Given the description of an element on the screen output the (x, y) to click on. 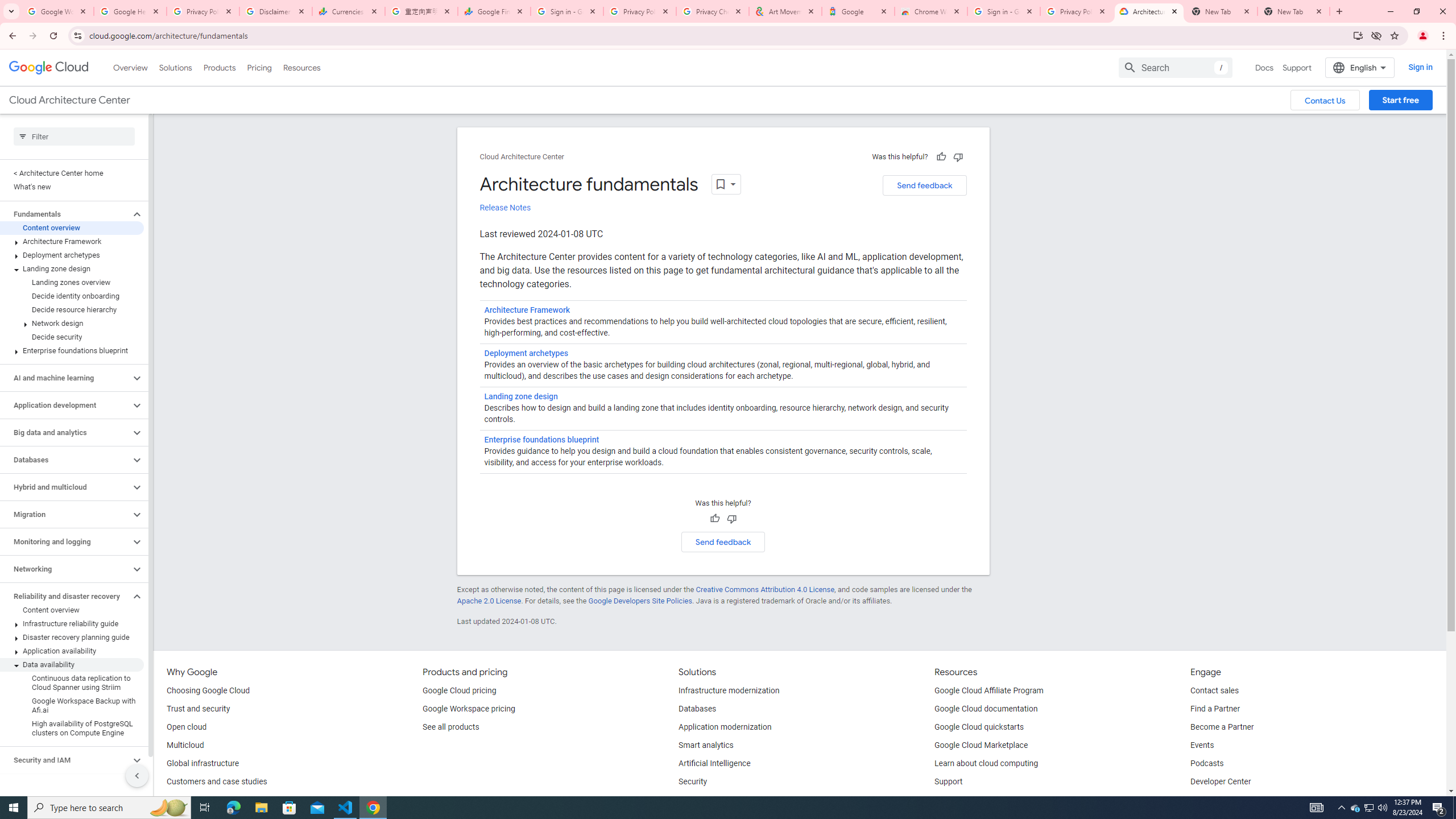
Resources (301, 67)
Enterprise foundations blueprint (72, 350)
Application availability (72, 650)
Privacy Checkup (712, 11)
English (1359, 67)
Infrastructure modernization (729, 691)
Global infrastructure (201, 764)
Application modernization (724, 727)
Landing zone design (520, 396)
Analyst reports (193, 800)
Deployment archetypes (525, 353)
